Given the description of an element on the screen output the (x, y) to click on. 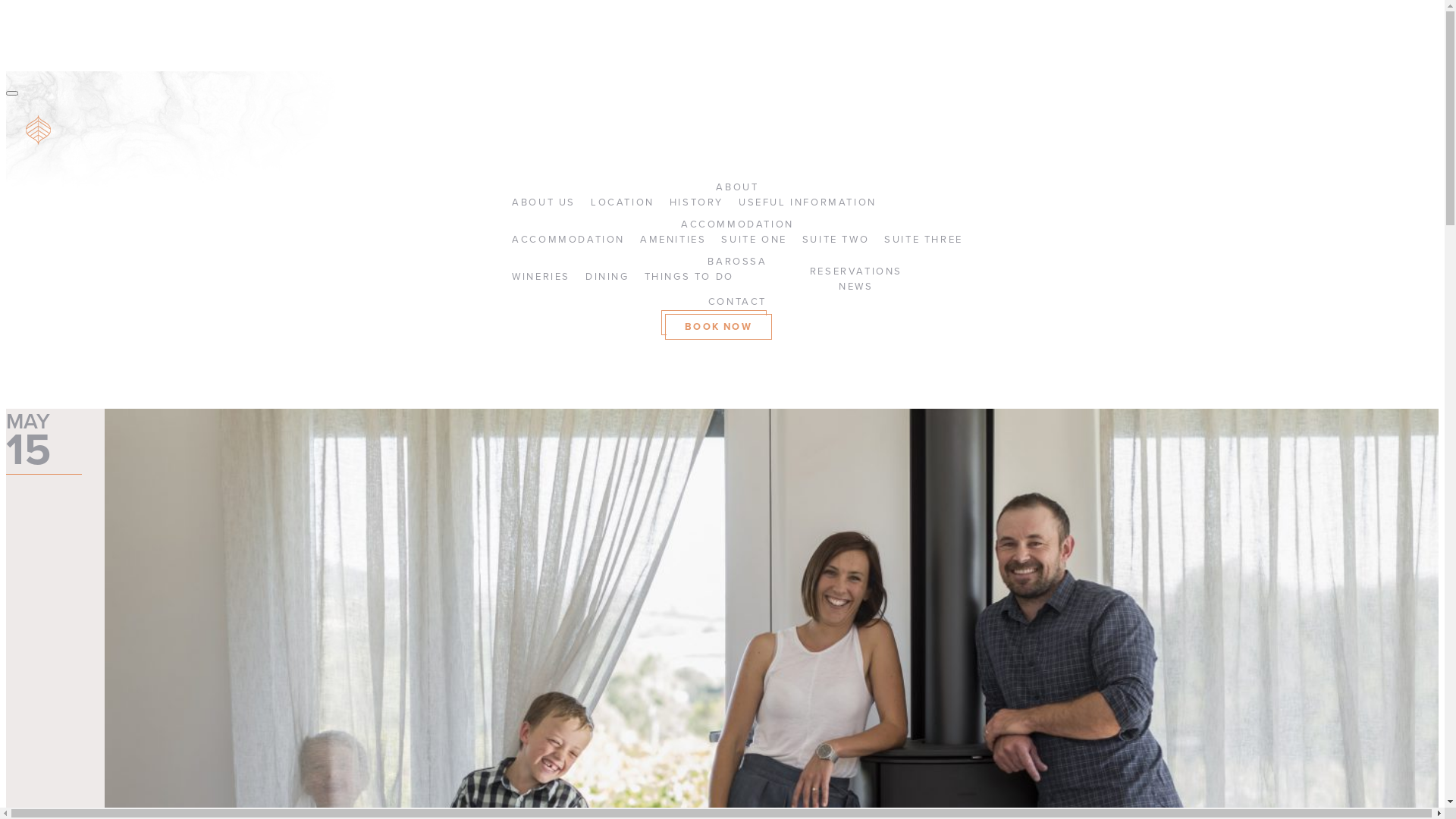
ABOUT Element type: text (736, 186)
CONTACT Element type: text (737, 301)
Home Element type: text (38, 129)
RESERVATIONS Element type: text (856, 271)
NEWS Element type: text (855, 286)
Toggle navigation Element type: text (12, 93)
ABOUT US Element type: text (543, 202)
SUITE THREE Element type: text (923, 239)
ACCOMMODATION Element type: text (737, 224)
THINGS TO DO Element type: text (689, 276)
SUITE TWO Element type: text (835, 239)
HISTORY Element type: text (696, 202)
BOOK NOW Element type: text (718, 326)
SUITE ONE Element type: text (753, 239)
DINING Element type: text (607, 276)
USEFUL INFORMATION Element type: text (807, 202)
AMENITIES Element type: text (672, 239)
WINERIES Element type: text (540, 276)
ACCOMMODATION Element type: text (568, 239)
LOCATION Element type: text (622, 202)
BAROSSA Element type: text (736, 261)
